Given the description of an element on the screen output the (x, y) to click on. 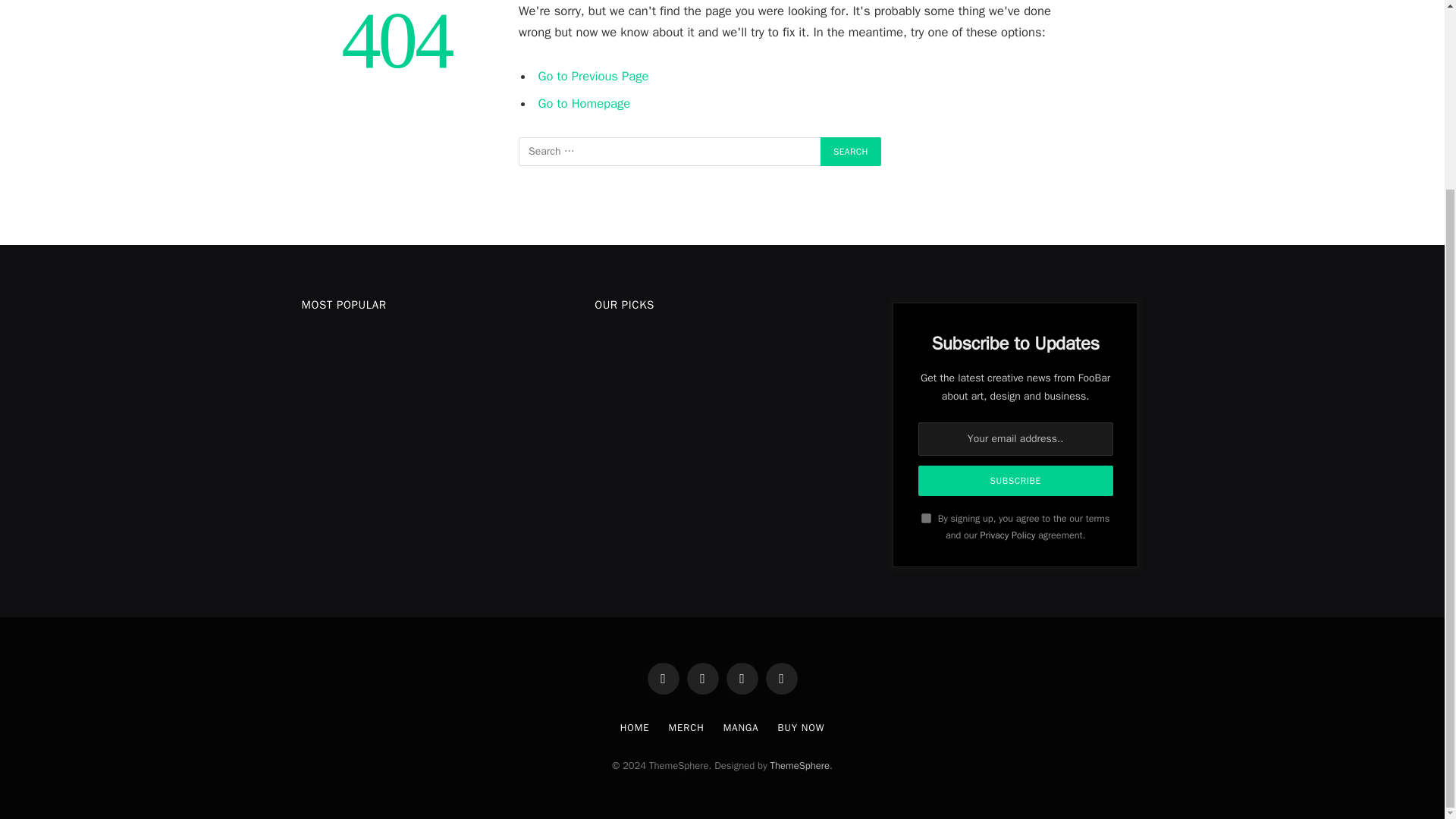
MERCH (685, 727)
Go to Previous Page (593, 75)
Subscribe (1015, 481)
Subscribe (1015, 481)
Pinterest (781, 678)
Search (850, 151)
Facebook (663, 678)
Instagram (742, 678)
Search (850, 151)
Search (850, 151)
on (926, 518)
HOME (634, 727)
Go to Homepage (584, 103)
Privacy Policy (1007, 535)
